Given the description of an element on the screen output the (x, y) to click on. 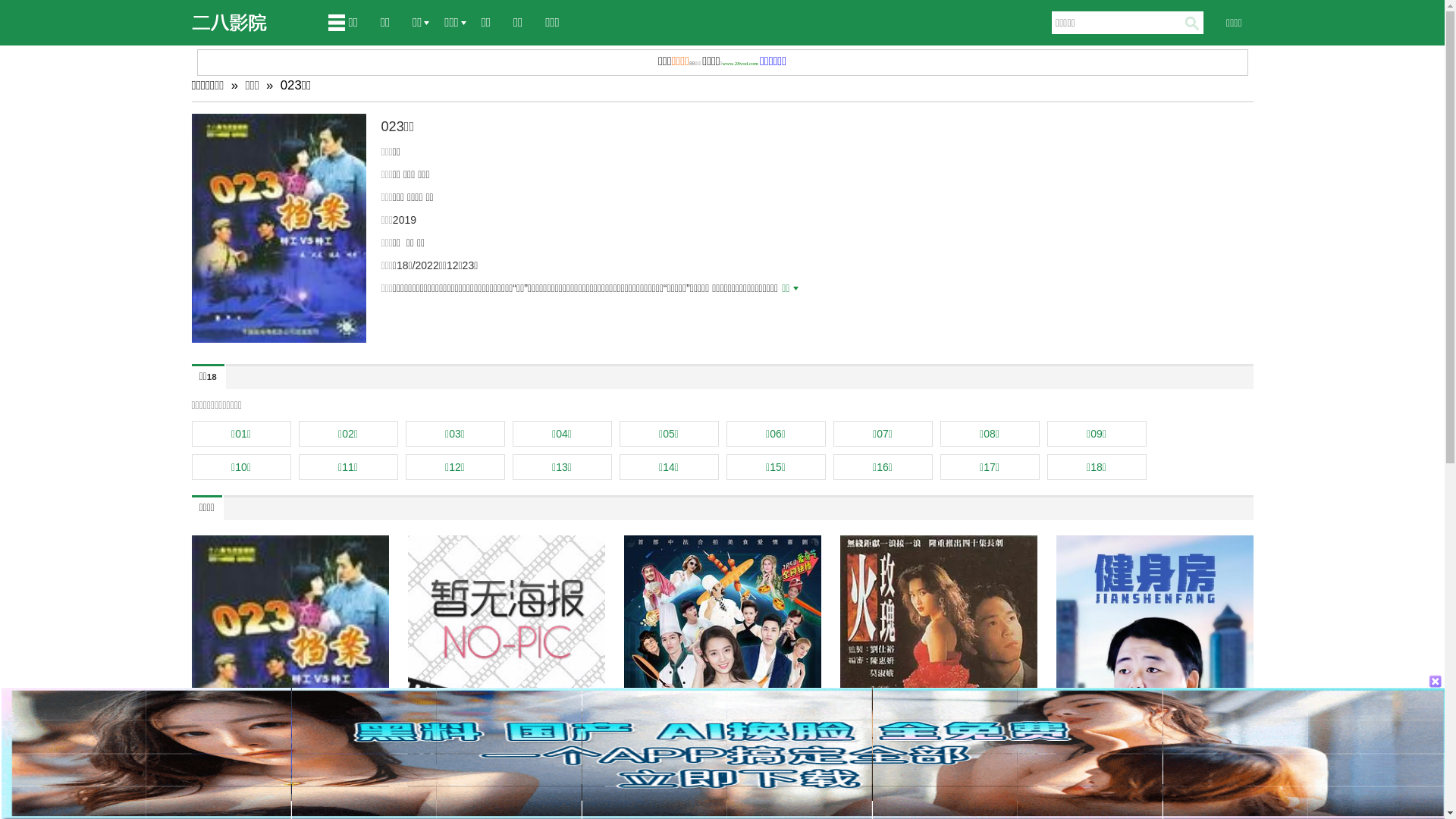
2019 Element type: text (404, 219)
